Given the description of an element on the screen output the (x, y) to click on. 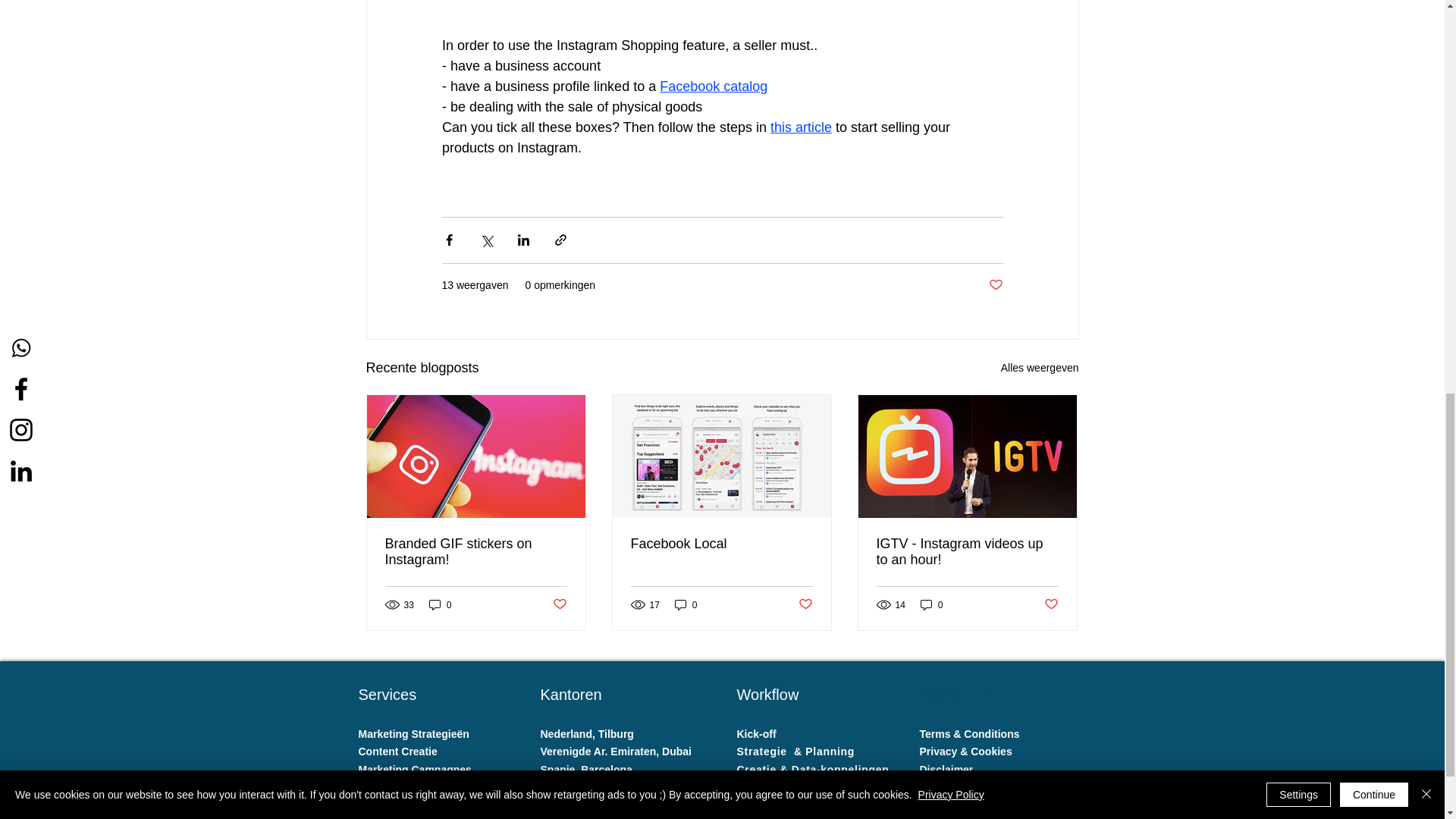
IGTV - Instagram videos up to an hour! (967, 552)
Post is niet als leuk gemarkeerd (995, 285)
Facebook Local (721, 544)
0 (440, 604)
this article (800, 127)
Post is niet als leuk gemarkeerd (804, 604)
Facebook catalog (713, 86)
Post is niet als leuk gemarkeerd (558, 604)
Alles weergeven (1039, 368)
0 (685, 604)
0 (931, 604)
Branded GIF stickers on Instagram! (476, 552)
Nederland, Tilburg  (588, 734)
Post is niet als leuk gemarkeerd (1050, 604)
